Given the description of an element on the screen output the (x, y) to click on. 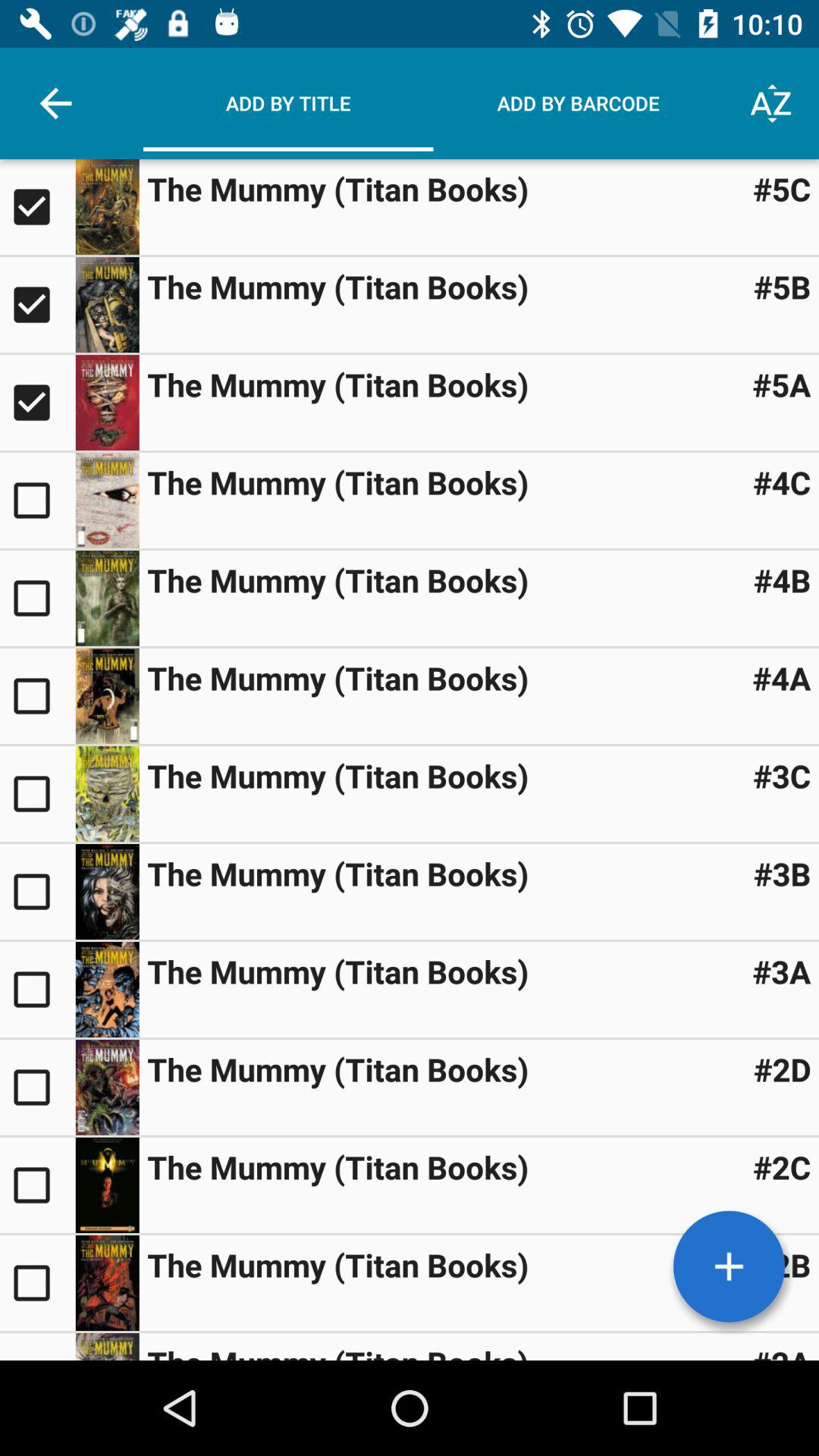
select item (37, 891)
